Given the description of an element on the screen output the (x, y) to click on. 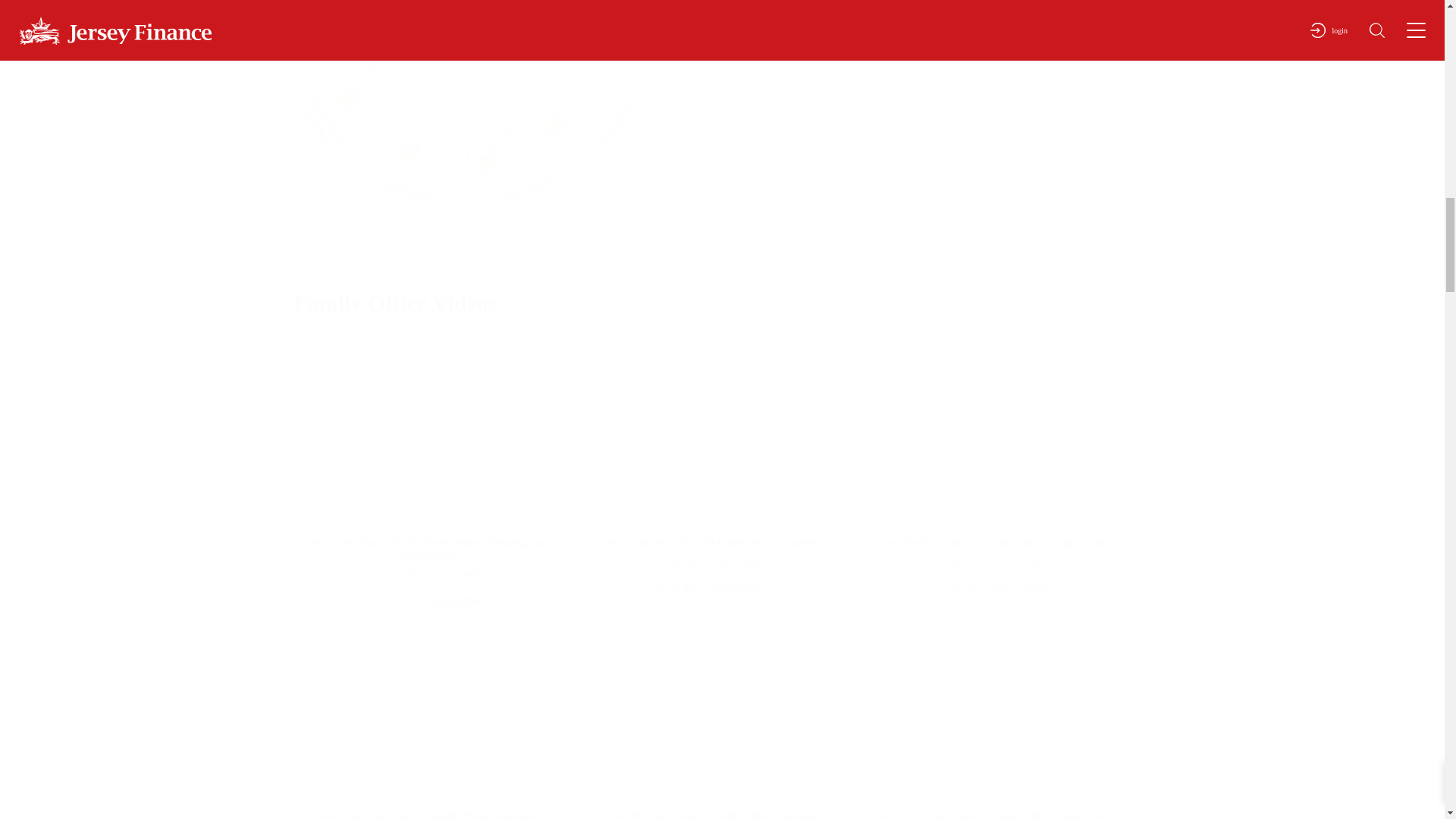
Jersey: The Clear Choice for Family Offices - Regulation (710, 719)
Jersey: The Clear Choice for Family Offices - Reputation (429, 719)
Jersey: The Clear Choice for Family Offices - Connectivity (992, 719)
Jersey: The Clear Choice for Family Offices - Expertise (710, 446)
